Given the description of an element on the screen output the (x, y) to click on. 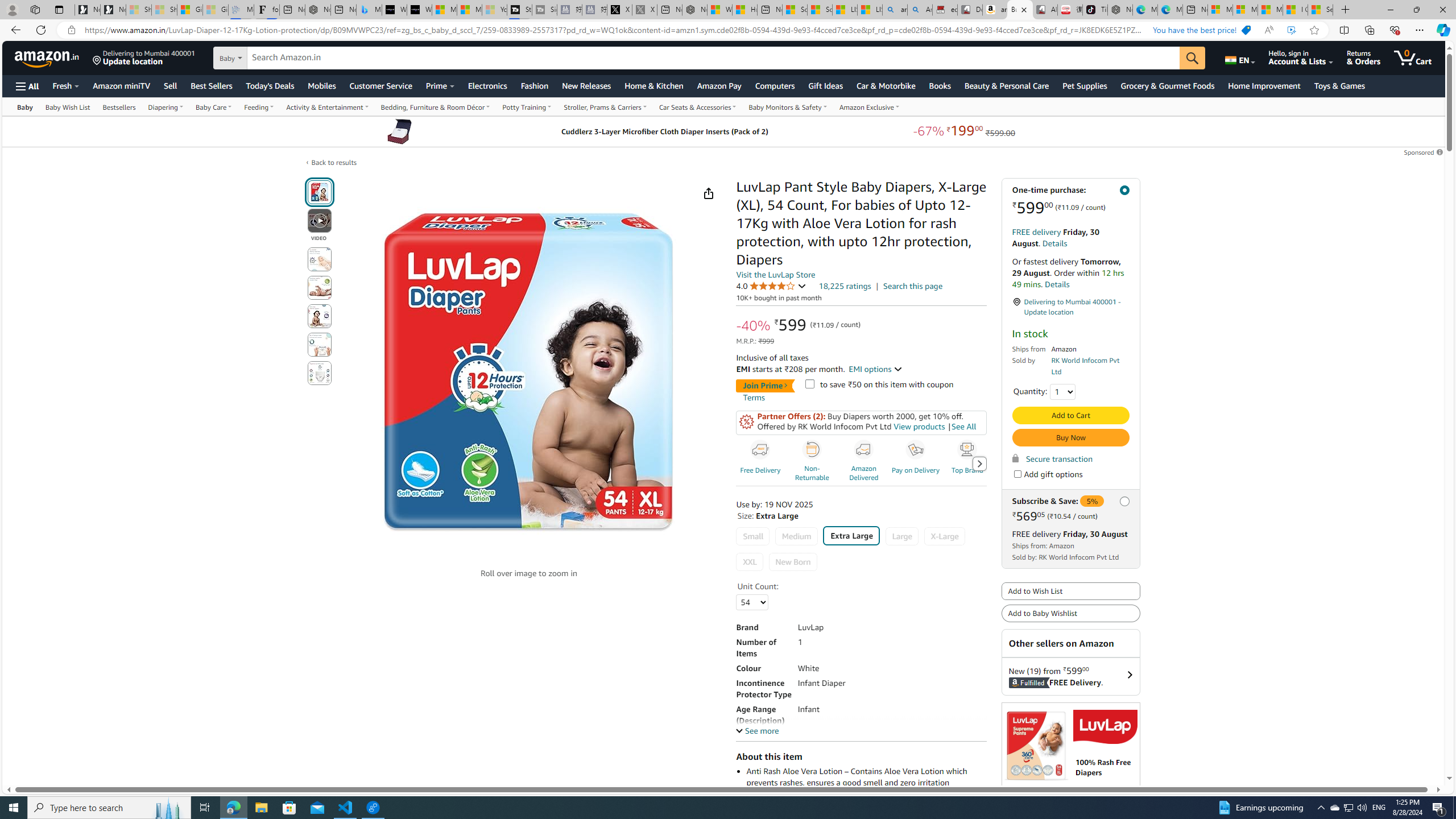
|See All (961, 426)
Search in (270, 58)
You have the best price! (1245, 29)
Hello, sign in Account & Lists (1301, 57)
EMI options  (875, 369)
Prime (440, 85)
Medium (795, 536)
Gift Ideas (825, 85)
FREE delivery (1036, 534)
